Given the description of an element on the screen output the (x, y) to click on. 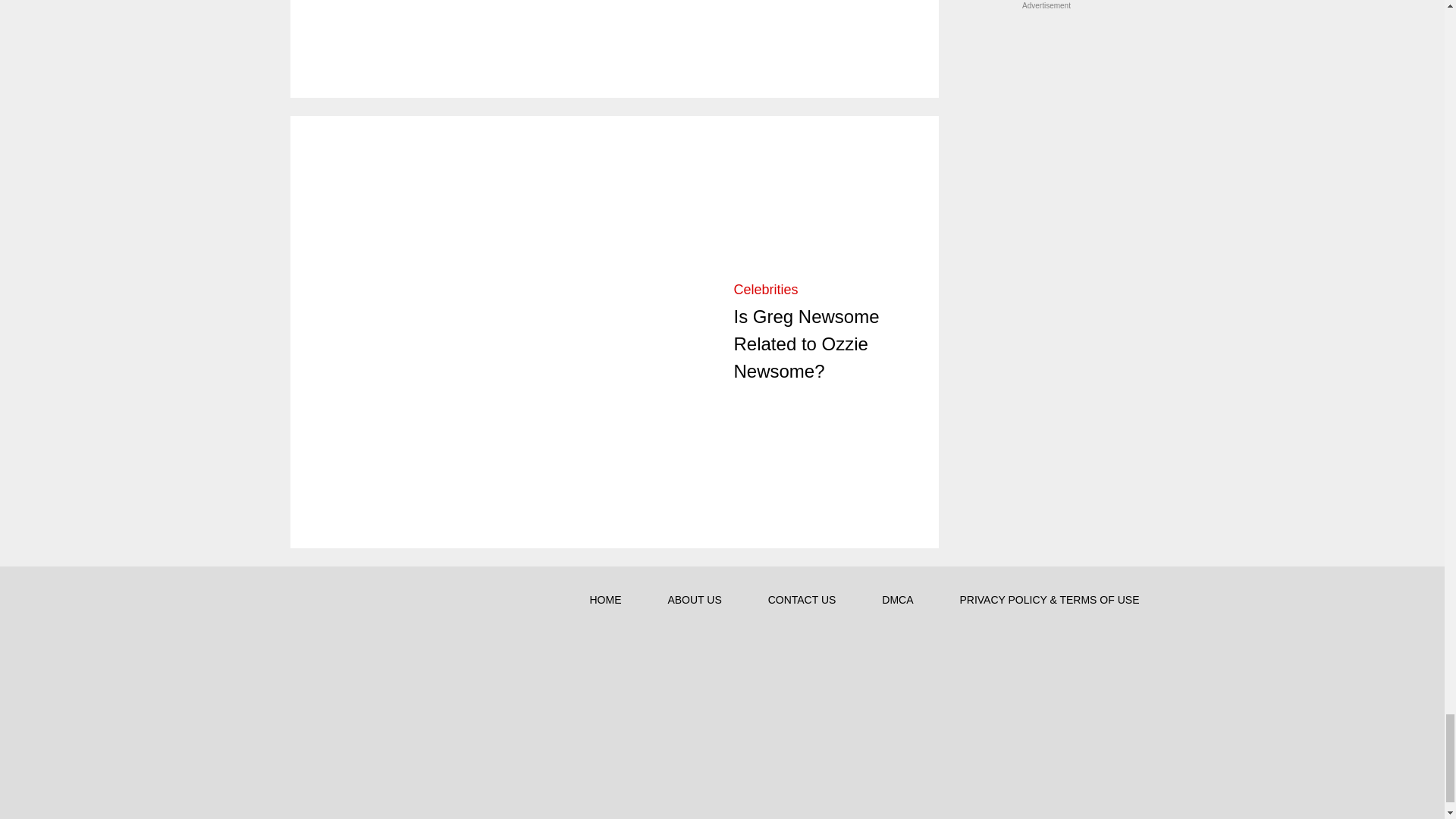
Category Name (765, 289)
